Given the description of an element on the screen output the (x, y) to click on. 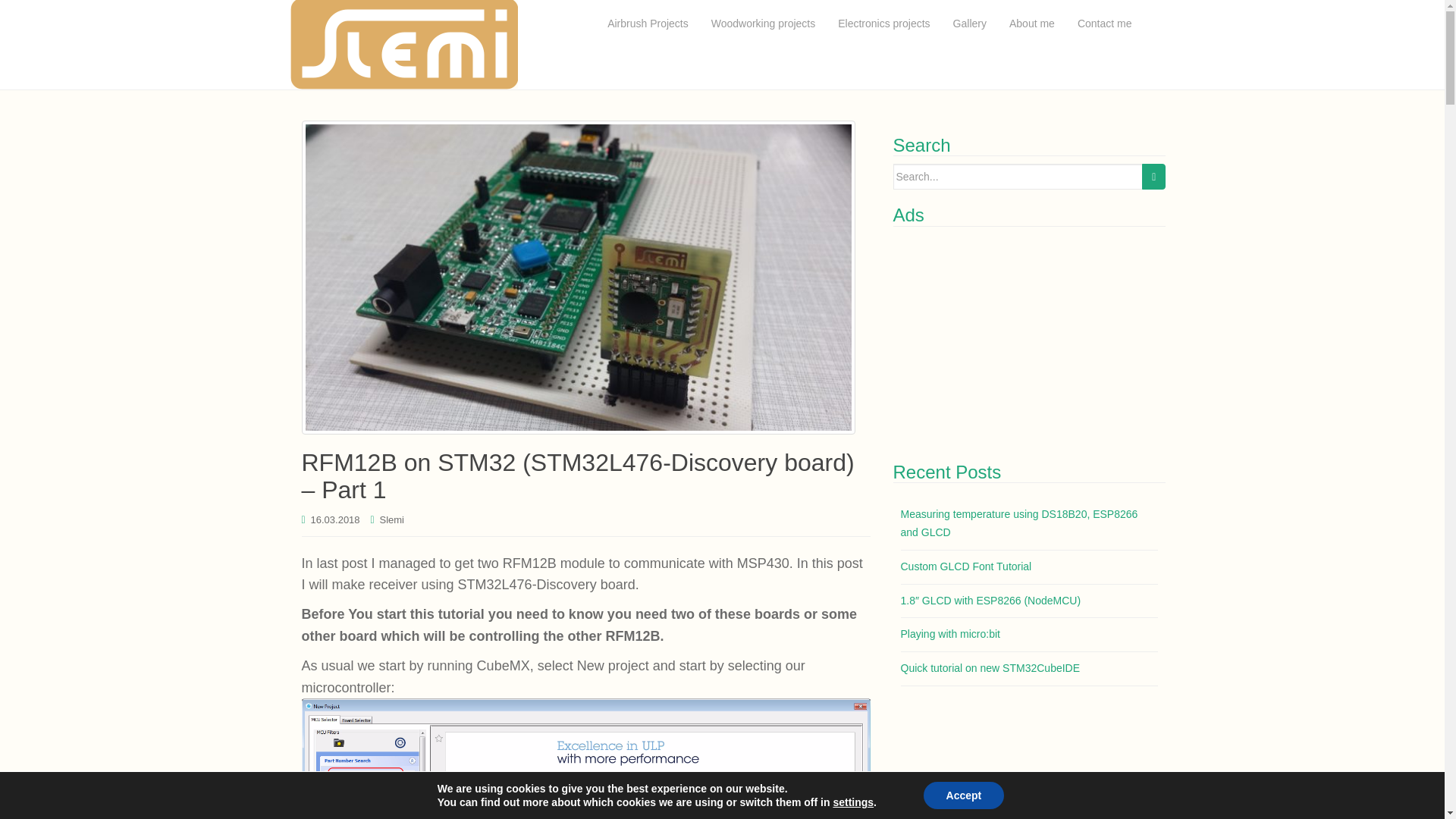
16.03.2018 (335, 519)
Search (1153, 176)
Quick tutorial on new STM32CubeIDE (990, 667)
Contact me (1103, 24)
Airbrush Projects (647, 24)
Contact me (1103, 24)
Airbrush Projects (647, 24)
Accept (963, 795)
Custom GLCD Font Tutorial (966, 566)
Electronics projects (883, 24)
